Given the description of an element on the screen output the (x, y) to click on. 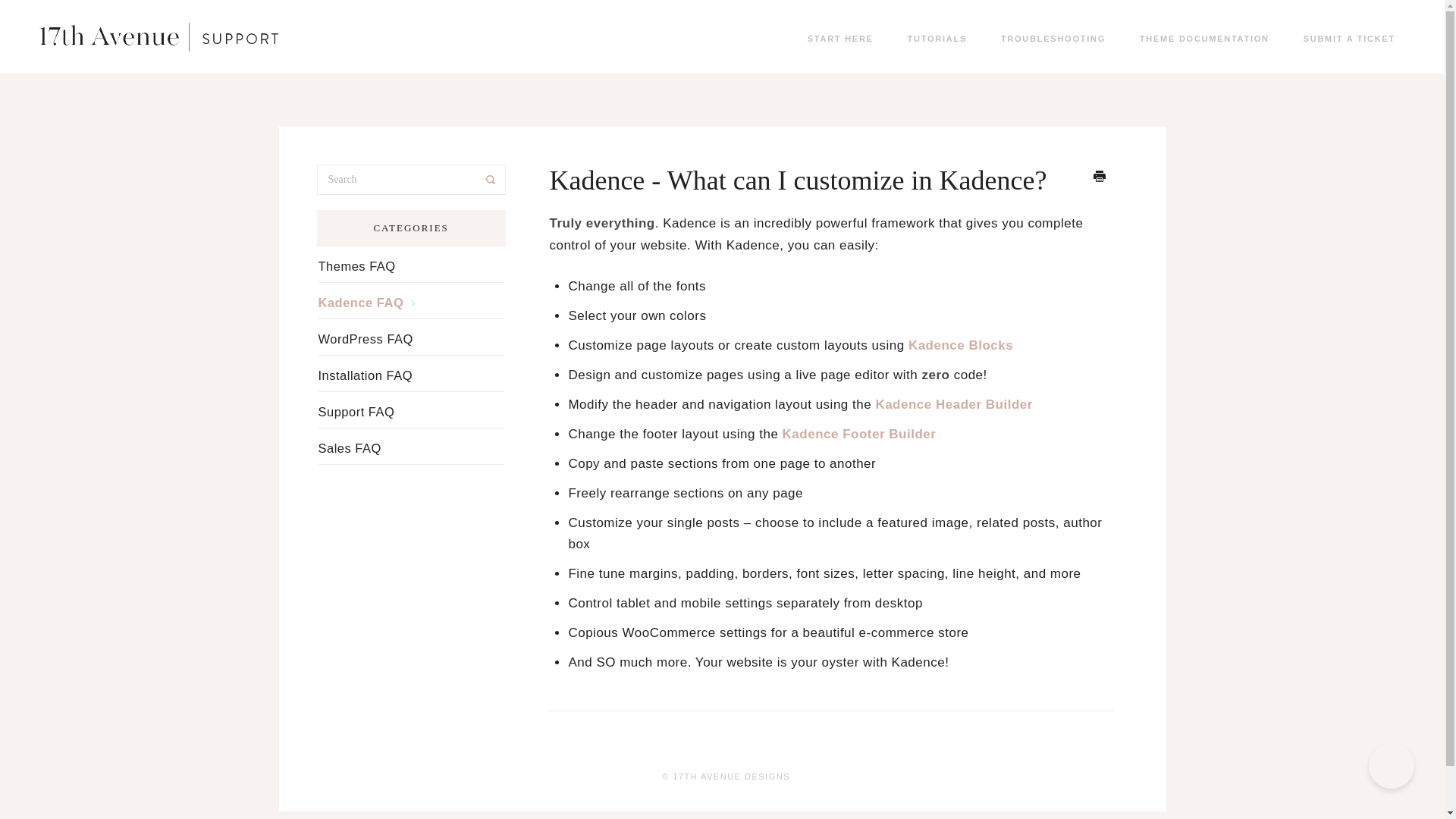
WordPress FAQ (371, 338)
THEME DOCUMENTATION (1200, 38)
Kadence Blocks (960, 345)
search-query (411, 179)
Themes FAQ (362, 265)
Sales FAQ (355, 447)
Kadence Footer Builder (859, 433)
TROUBLESHOOTING (1048, 38)
SUBMIT A TICKET (1345, 38)
Kadence FAQ (375, 302)
